Given the description of an element on the screen output the (x, y) to click on. 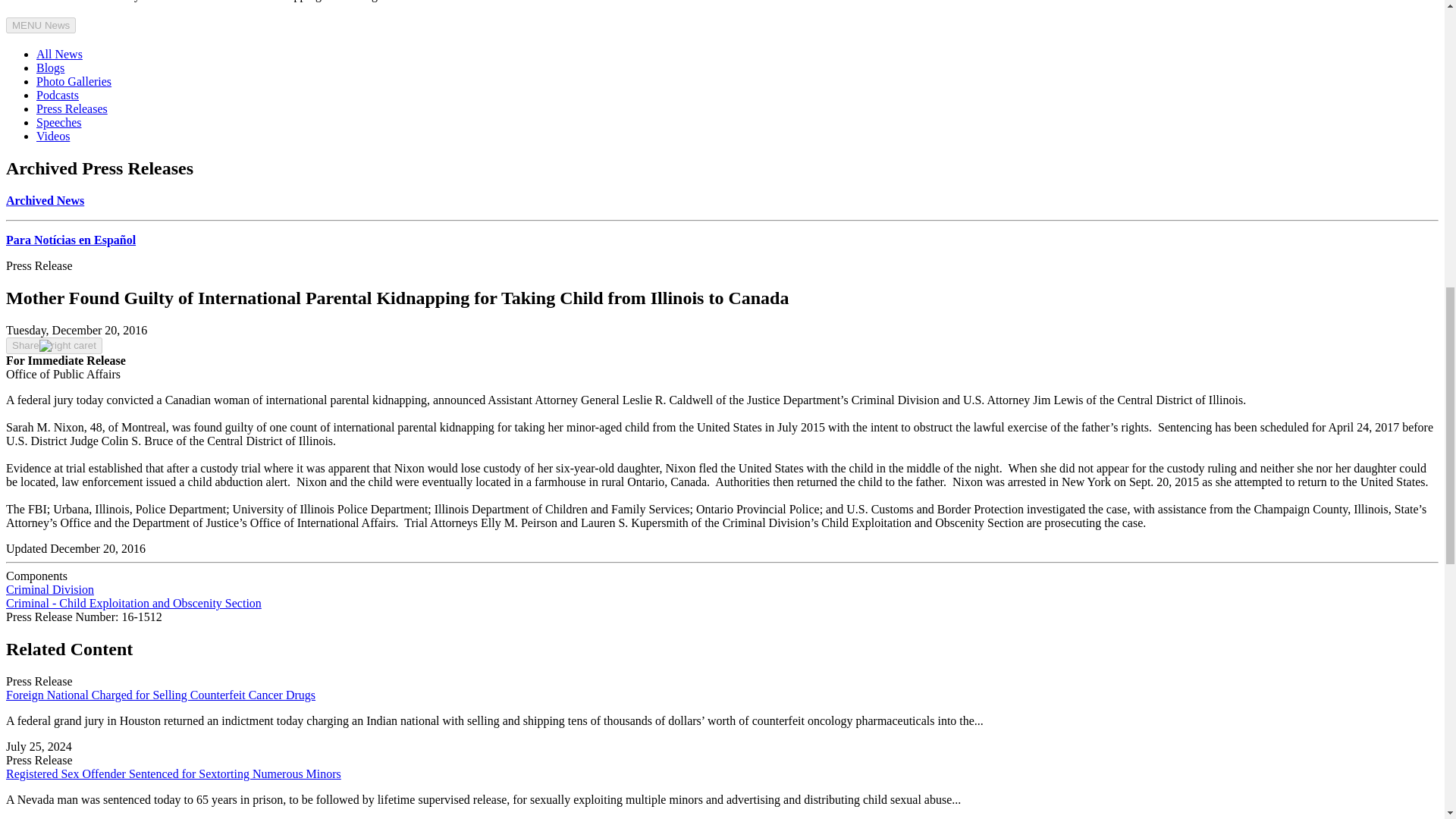
Blogs (50, 67)
Podcasts (57, 94)
MENU News (40, 25)
Photo Galleries (74, 81)
Press Releases (71, 108)
All News (59, 53)
